Given the description of an element on the screen output the (x, y) to click on. 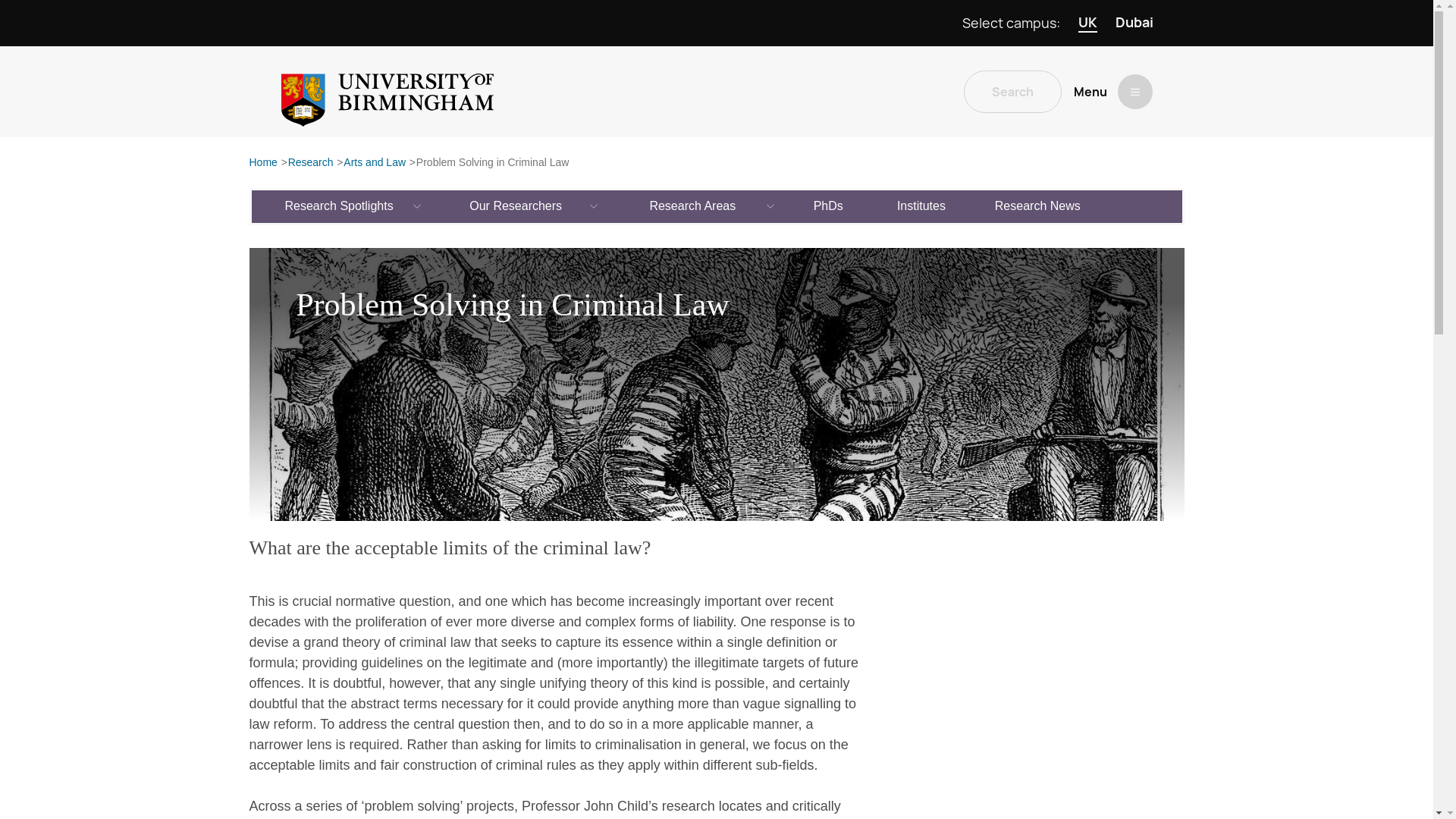
Research (310, 163)
Search (1012, 91)
Research Areas (693, 205)
UK (1087, 23)
Problem Solving in Criminal Law (492, 163)
Research Spotlights (339, 205)
Arts and Law (374, 163)
Dubai (1134, 23)
Home (262, 163)
Our Researchers (516, 205)
